Given the description of an element on the screen output the (x, y) to click on. 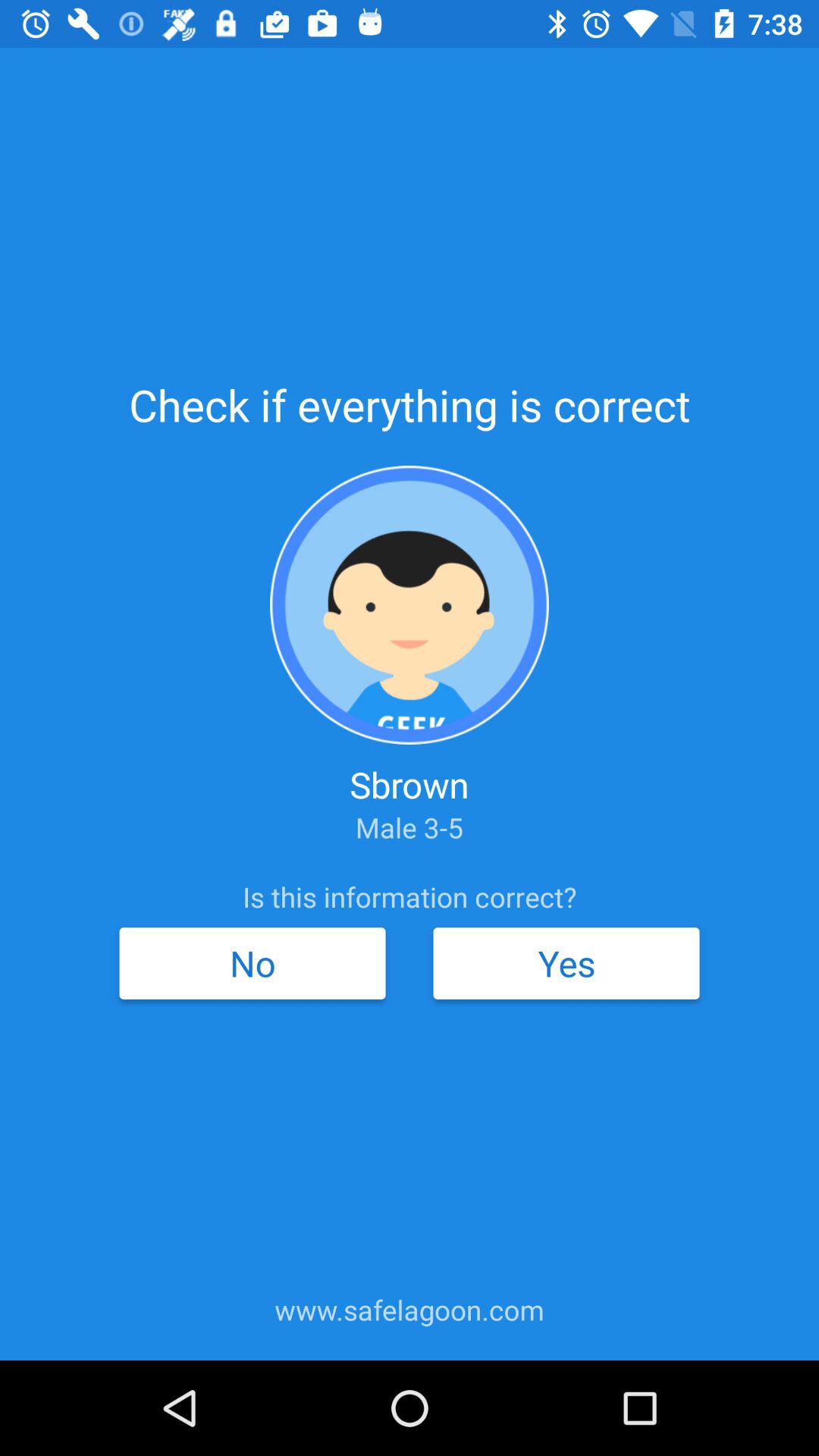
turn on the no on the left (252, 963)
